Given the description of an element on the screen output the (x, y) to click on. 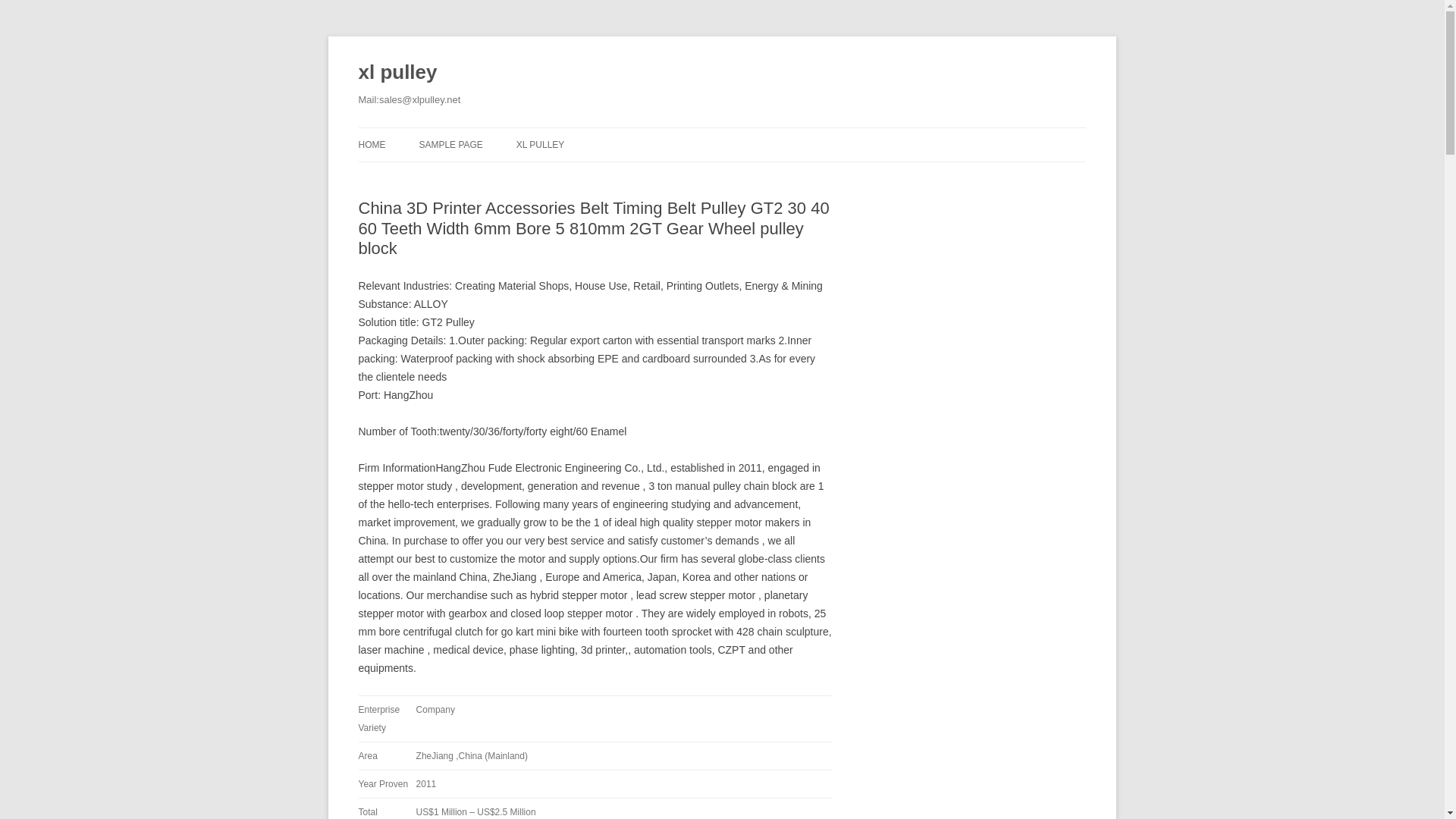
SAMPLE PAGE (450, 144)
XL PULLEY (540, 144)
xl pulley (397, 72)
xl pulley (397, 72)
